Given the description of an element on the screen output the (x, y) to click on. 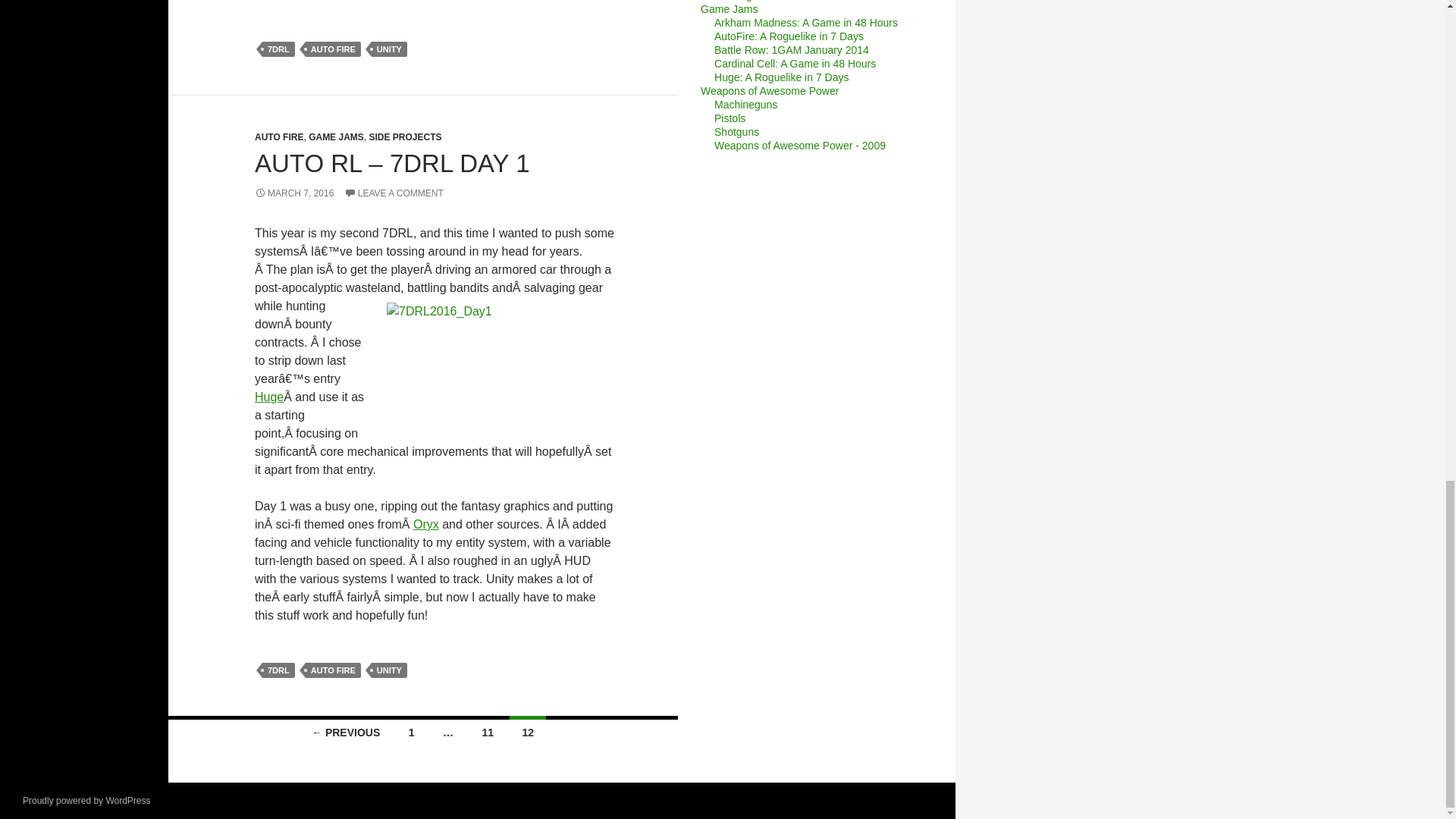
AUTO FIRE (333, 48)
UNITY (389, 48)
Huge (268, 396)
MARCH 7, 2016 (293, 193)
7DRL (278, 48)
LEAVE A COMMENT (393, 193)
GAME JAMS (336, 136)
AUTO FIRE (278, 136)
Oryx (426, 523)
SIDE PROJECTS (404, 136)
